Given the description of an element on the screen output the (x, y) to click on. 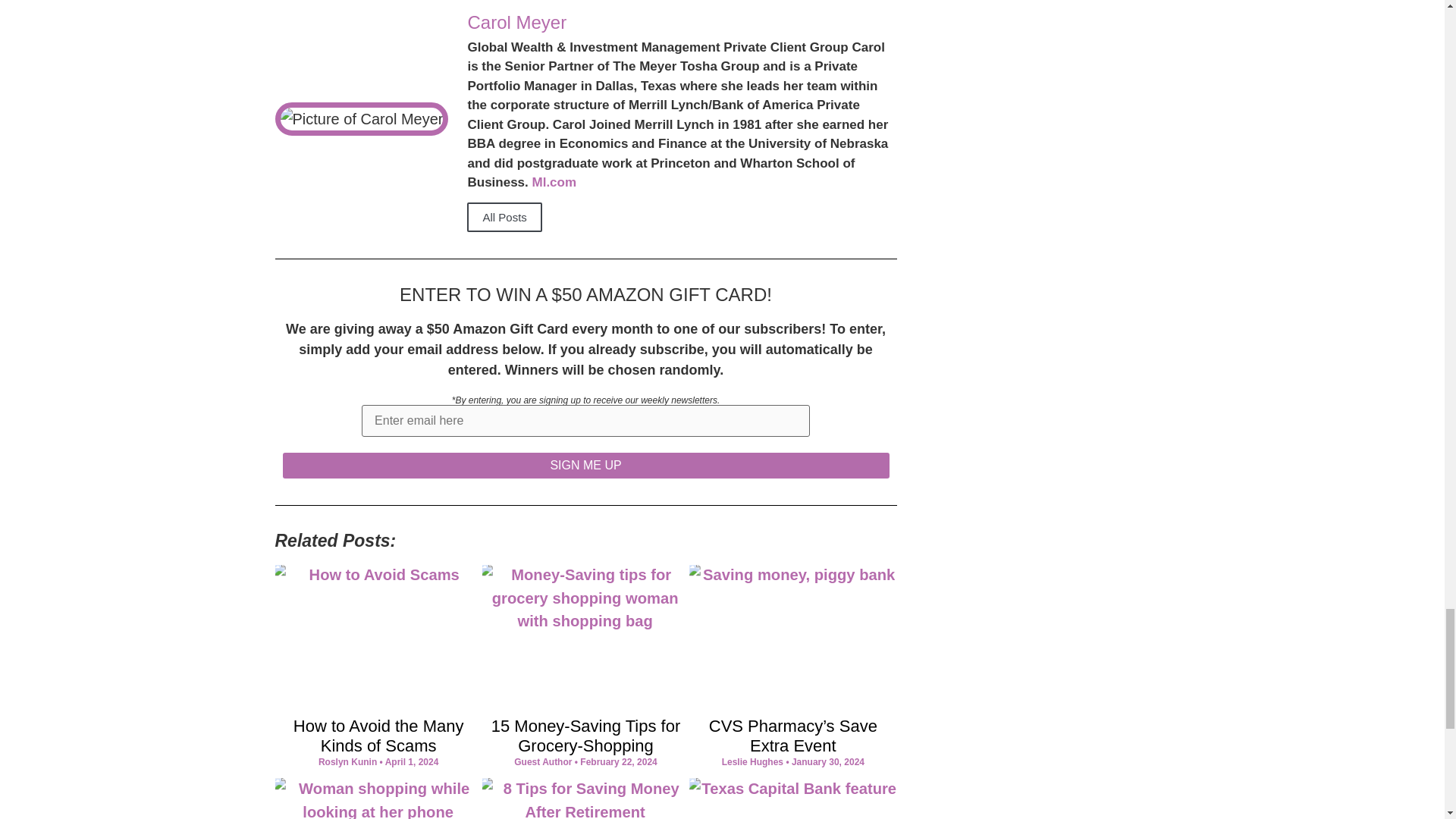
How to Avoid the Many Kinds of Scams (379, 735)
Ml.com (554, 182)
15 Money-Saving Tips for Grocery-Shopping (585, 735)
SIGN ME UP (585, 465)
All Posts (504, 216)
SIGN ME UP (585, 465)
